Given the description of an element on the screen output the (x, y) to click on. 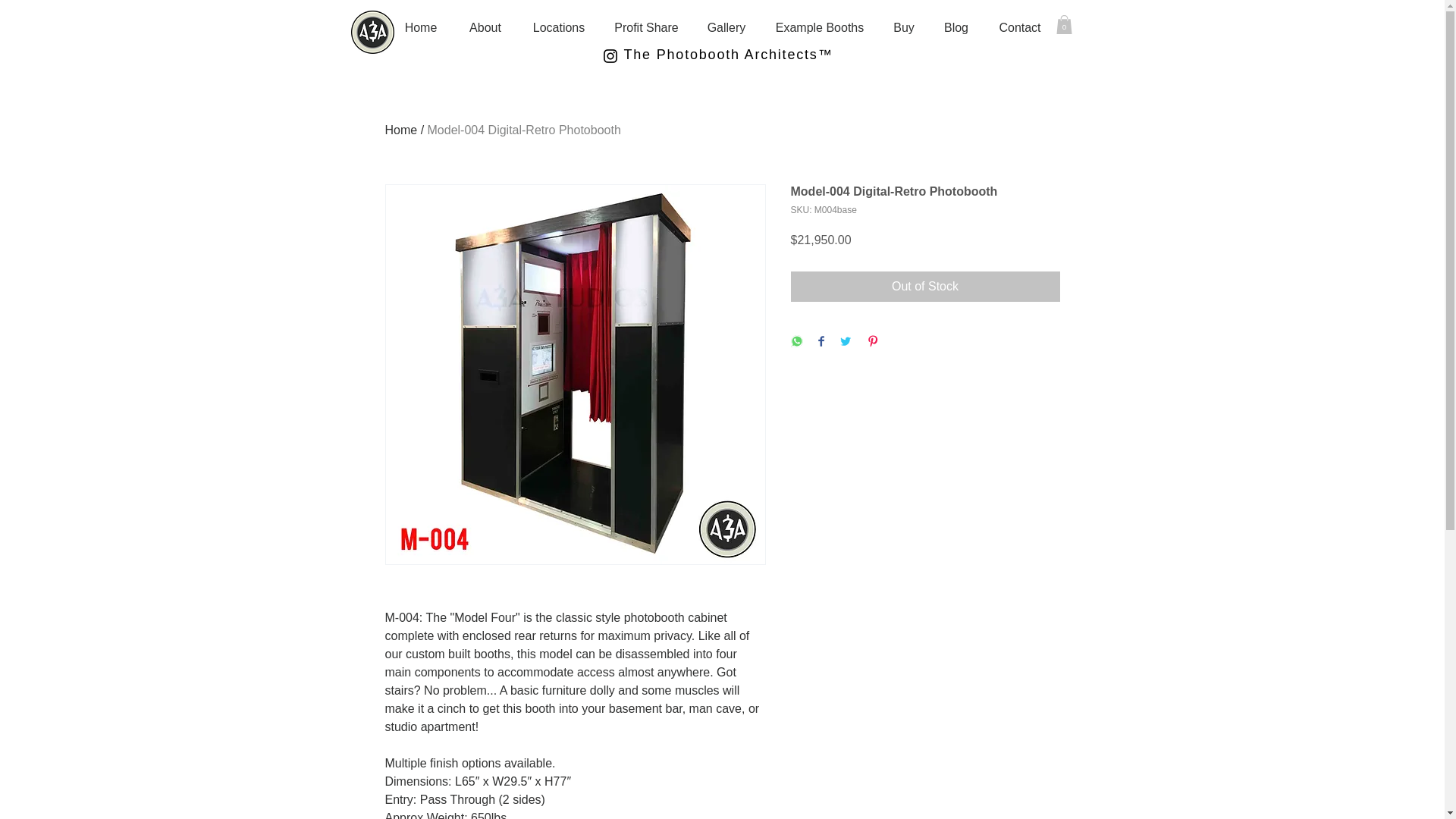
About (485, 27)
Example Booths (819, 27)
Contact (1020, 27)
Gallery (726, 27)
Profit Share (646, 27)
Locations (557, 27)
Home (420, 27)
Buy (903, 27)
Blog (956, 27)
Home (401, 129)
Out of Stock (924, 286)
Model-004 Digital-Retro Photobooth (524, 129)
